Given the description of an element on the screen output the (x, y) to click on. 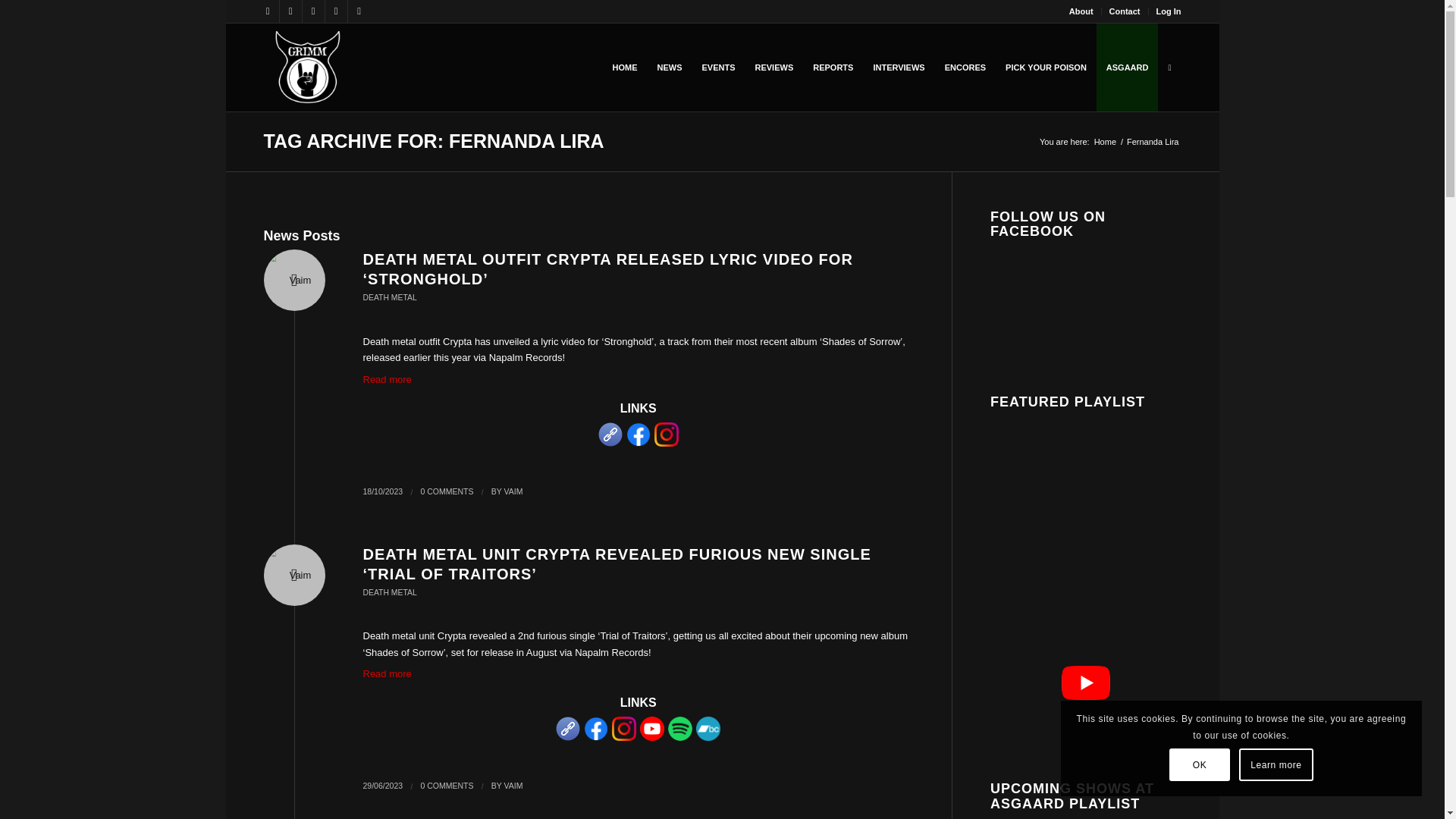
X (290, 11)
Instagram (335, 11)
Youtube (312, 11)
Facebook (267, 11)
Pinterest (358, 11)
